Given the description of an element on the screen output the (x, y) to click on. 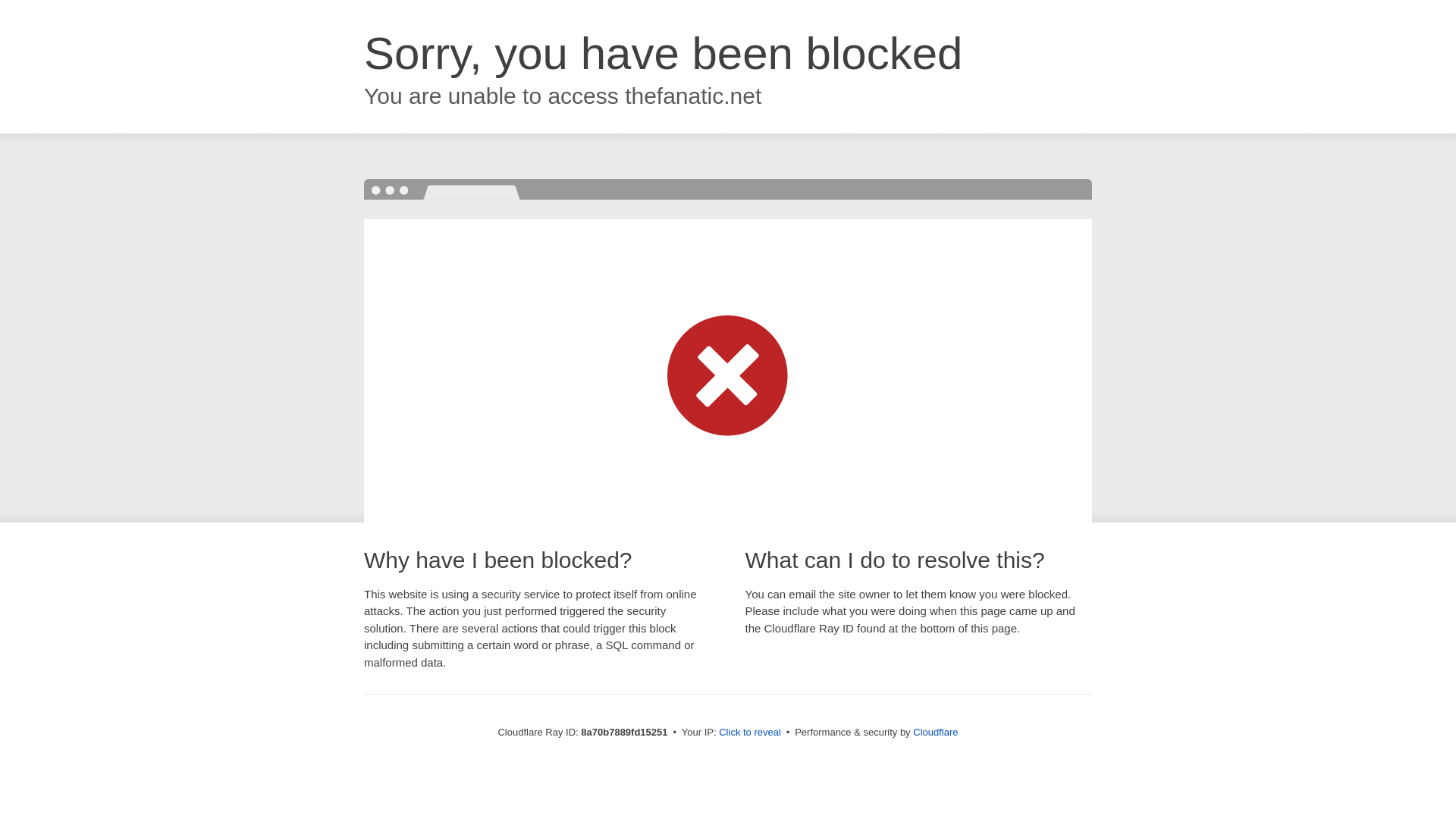
Cloudflare (935, 731)
Click to reveal (749, 732)
